Given the description of an element on the screen output the (x, y) to click on. 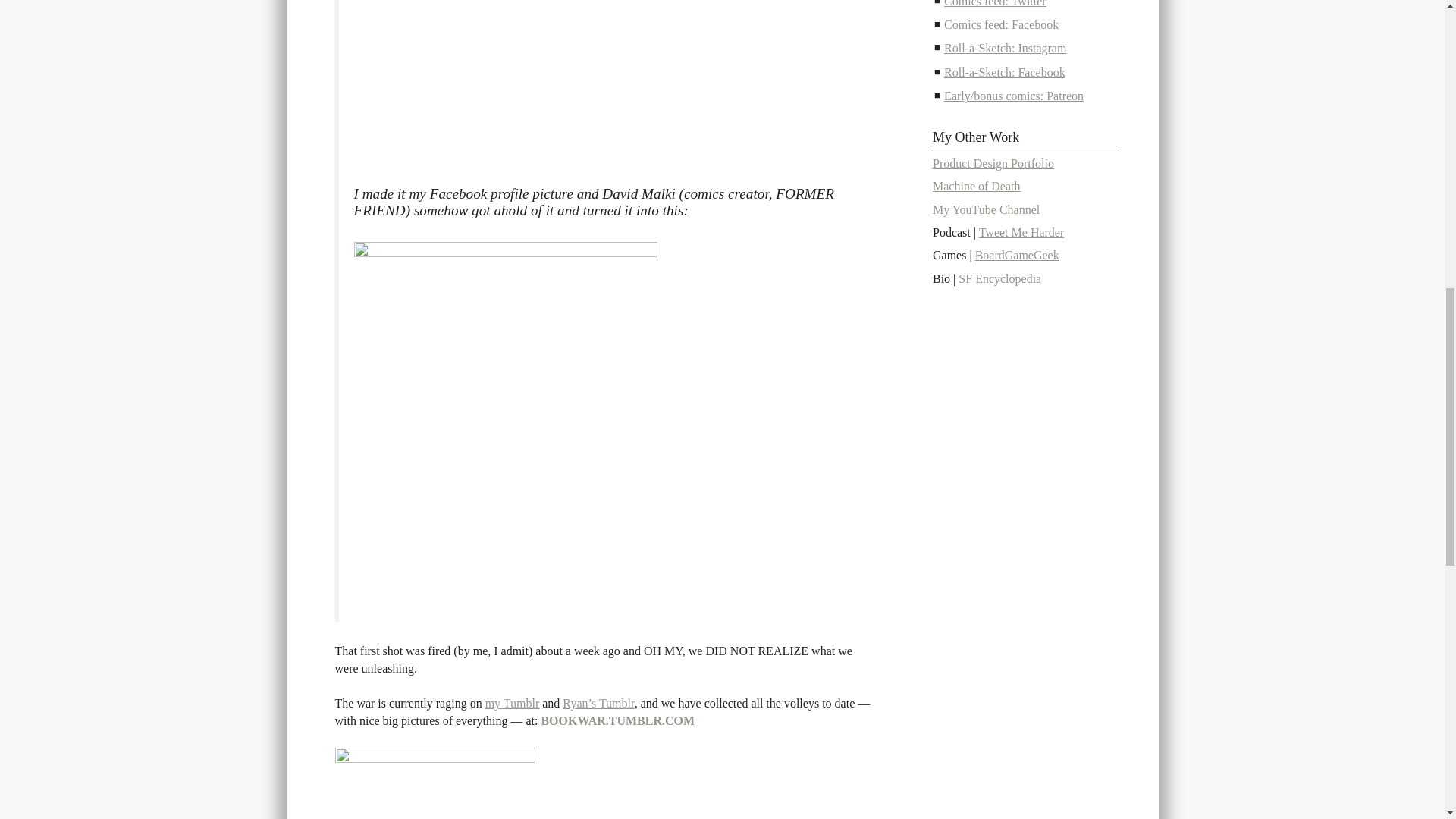
Roll-a-Sketch: Instagram (1004, 47)
Comics feed: Twitter (994, 3)
sassy (504, 81)
BOOKWAR.TUMBLR.COM (617, 720)
Roll-a-Sketch: Facebook (1004, 72)
pow bang boom (434, 783)
Scroll back to top (1394, 704)
my Tumblr (512, 703)
Comics feed: Facebook (1000, 24)
